Given the description of an element on the screen output the (x, y) to click on. 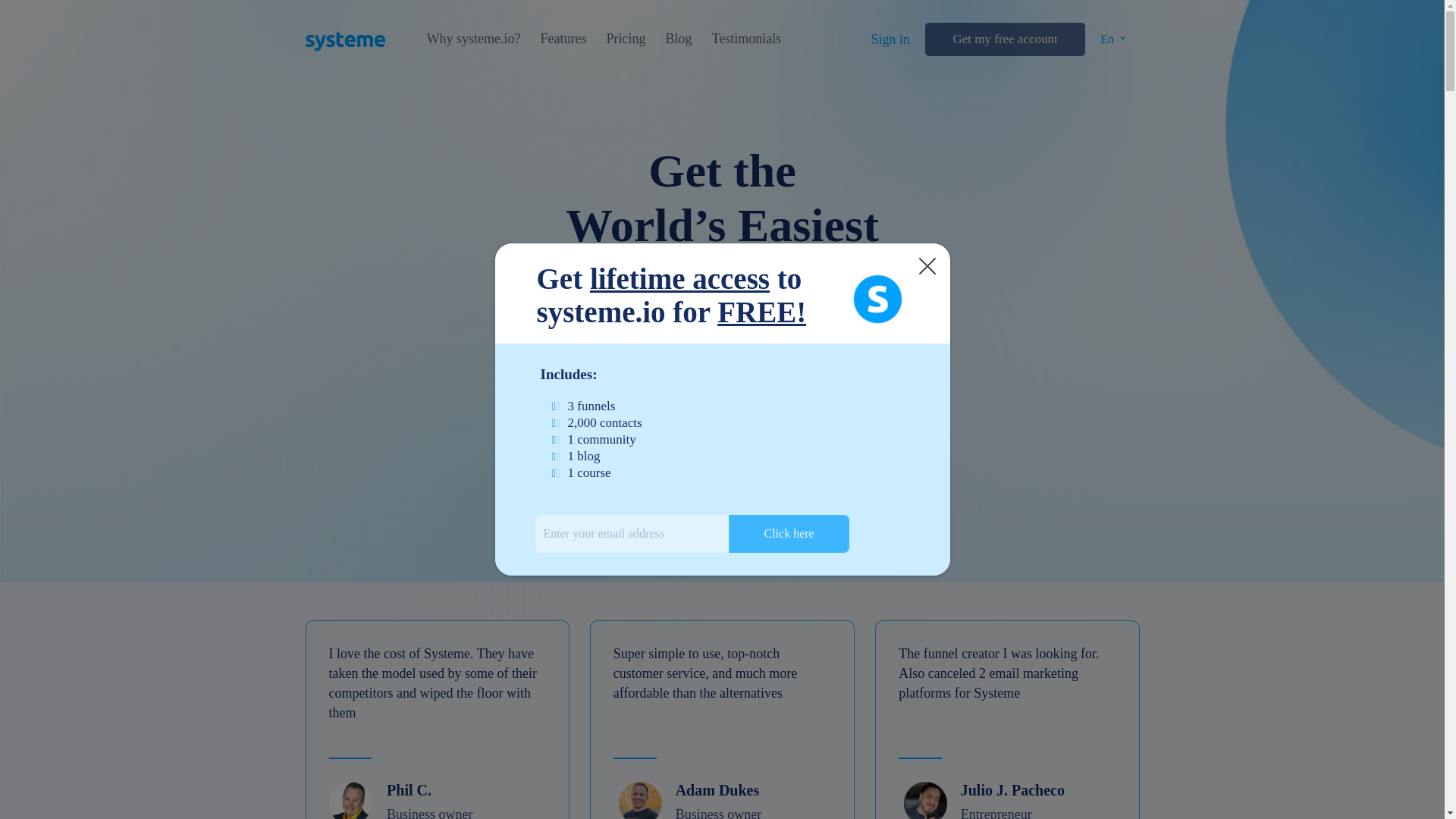
Get my free account (1004, 39)
Blog (678, 38)
Features (563, 38)
Pricing (625, 38)
Testimonials (745, 38)
Why systeme.io? (472, 38)
Sign in (890, 39)
